Given the description of an element on the screen output the (x, y) to click on. 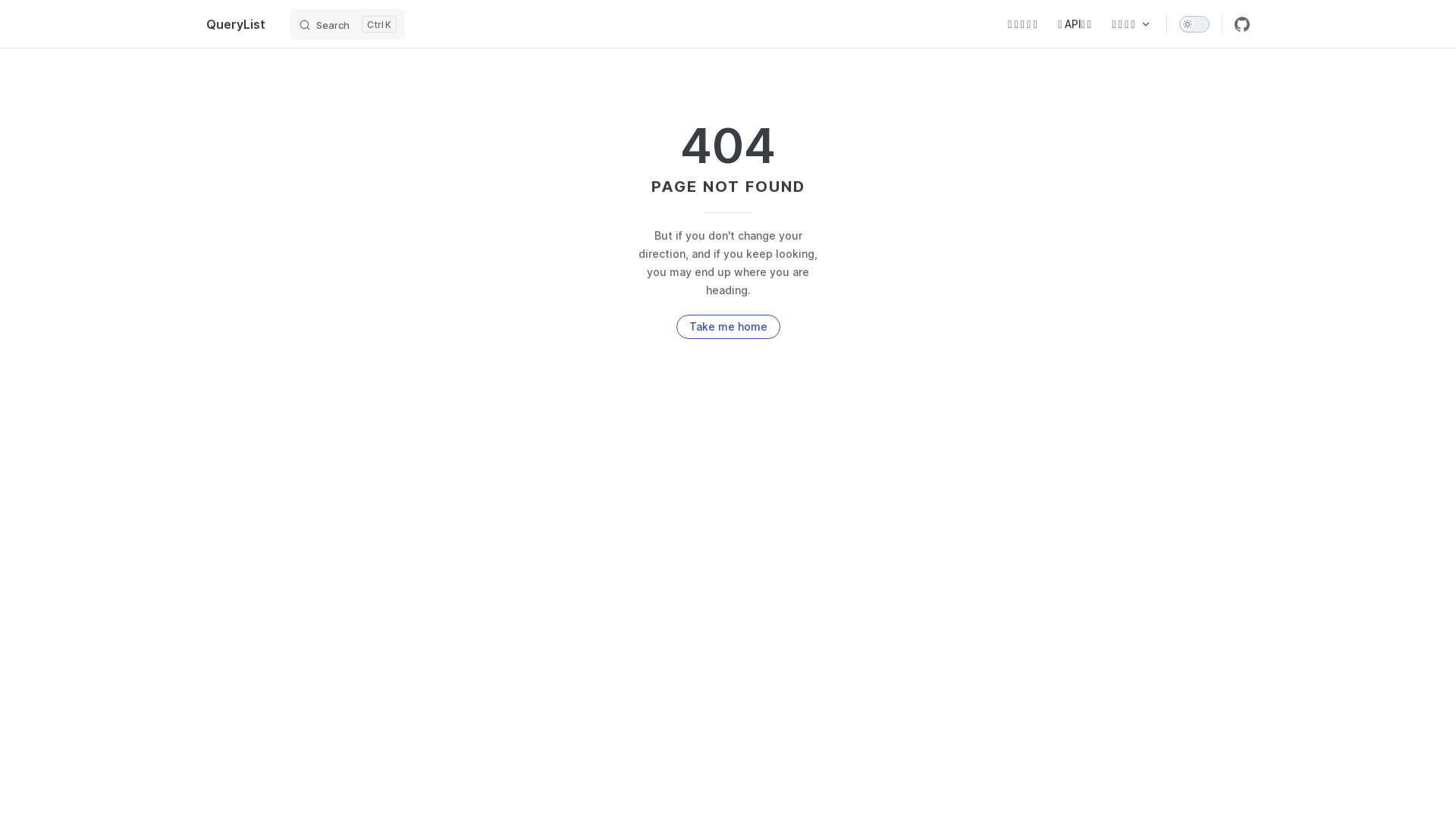
Search
K Element type: text (346, 24)
Skip to content Element type: text (24, 16)
Take me home Element type: text (728, 326)
QueryList Element type: text (235, 24)
toggle dark mode Element type: hover (1194, 23)
